Given the description of an element on the screen output the (x, y) to click on. 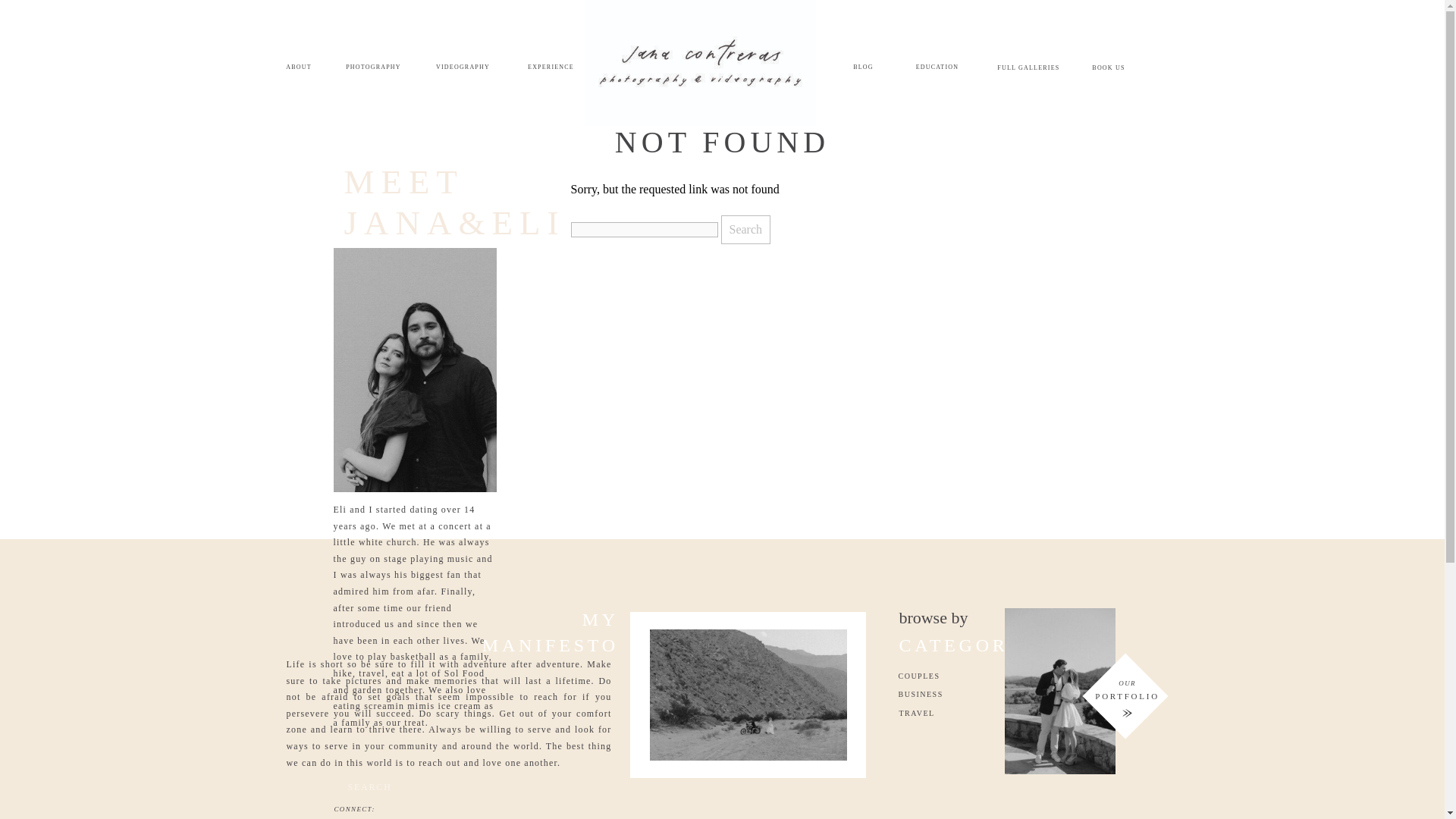
Search (745, 229)
BUSINESS (951, 693)
BLOG (862, 68)
EXPERIENCE (550, 68)
EDUCATION (936, 68)
Search (745, 229)
TRAVEL (952, 712)
VIDEOGRAPHY (462, 68)
CATEGORY (981, 653)
CONNECT: (355, 811)
